Given the description of an element on the screen output the (x, y) to click on. 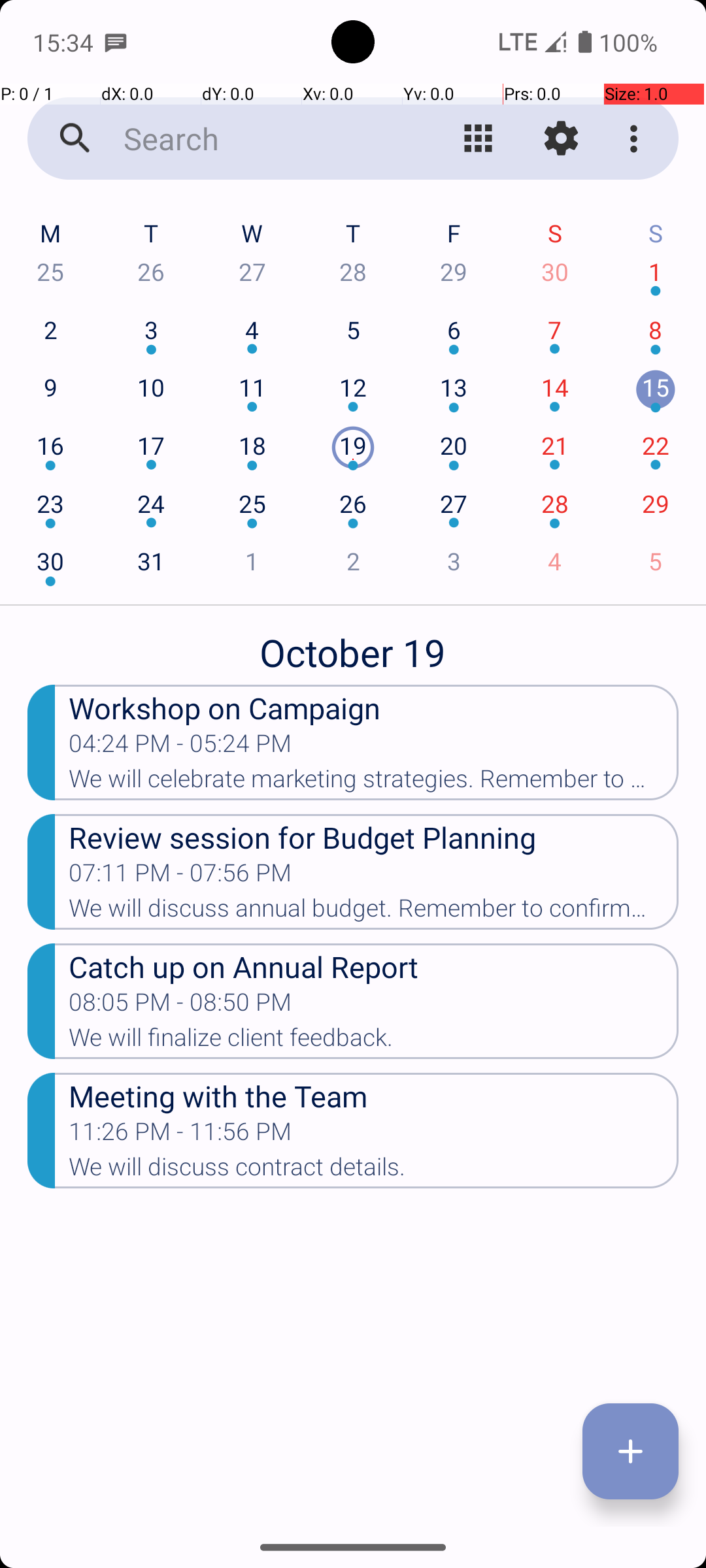
October 19 Element type: android.widget.TextView (352, 644)
04:24 PM - 05:24 PM Element type: android.widget.TextView (179, 747)
We will celebrate marketing strategies. Remember to confirm attendance. Element type: android.widget.TextView (373, 782)
07:11 PM - 07:56 PM Element type: android.widget.TextView (179, 876)
We will discuss annual budget. Remember to confirm attendance. Element type: android.widget.TextView (373, 911)
08:05 PM - 08:50 PM Element type: android.widget.TextView (179, 1005)
We will finalize client feedback. Element type: android.widget.TextView (373, 1041)
11:26 PM - 11:56 PM Element type: android.widget.TextView (179, 1135)
We will discuss contract details. Element type: android.widget.TextView (373, 1170)
